Given the description of an element on the screen output the (x, y) to click on. 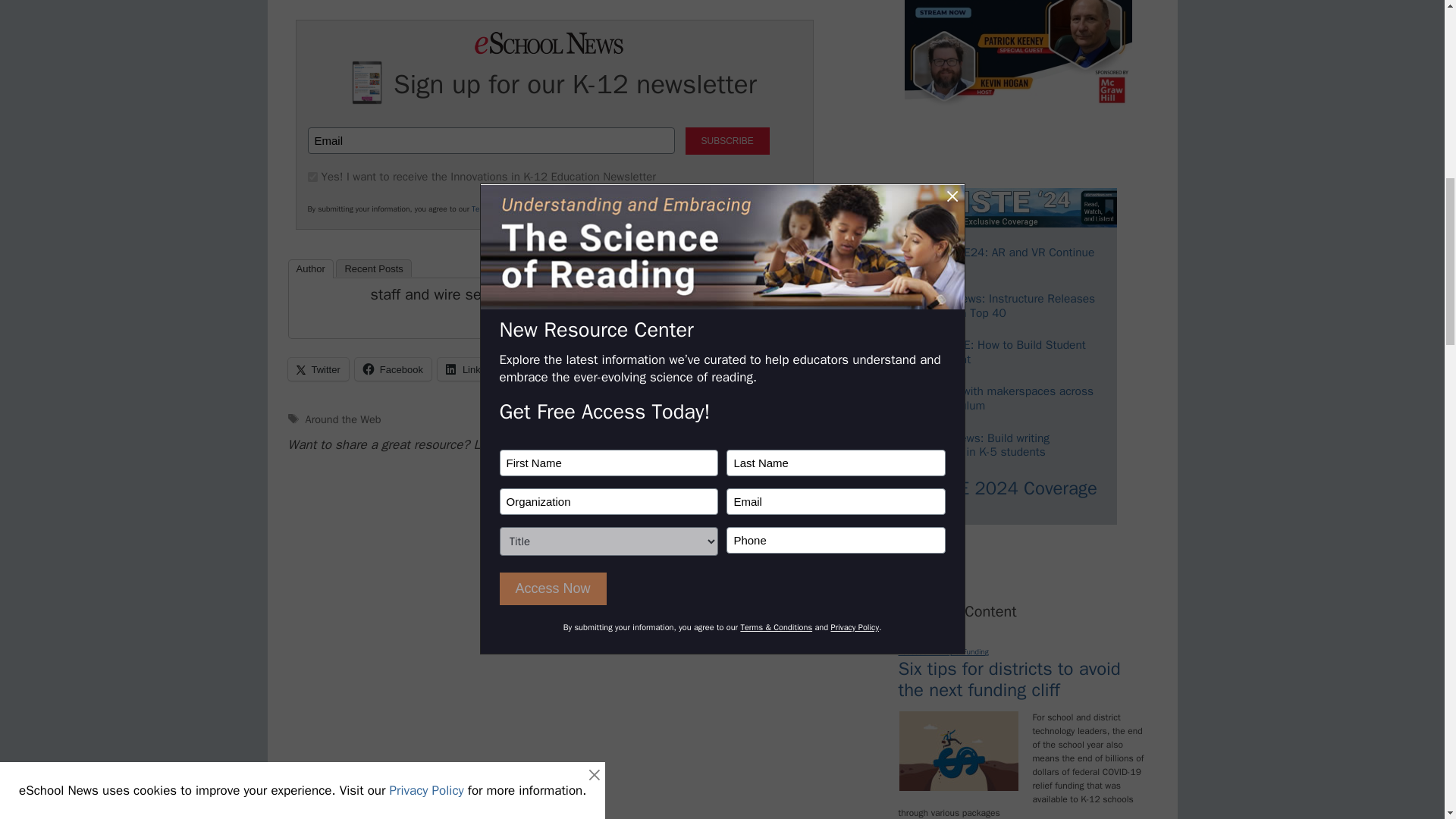
100 (312, 176)
SUBSCRIBE (727, 140)
